Given the description of an element on the screen output the (x, y) to click on. 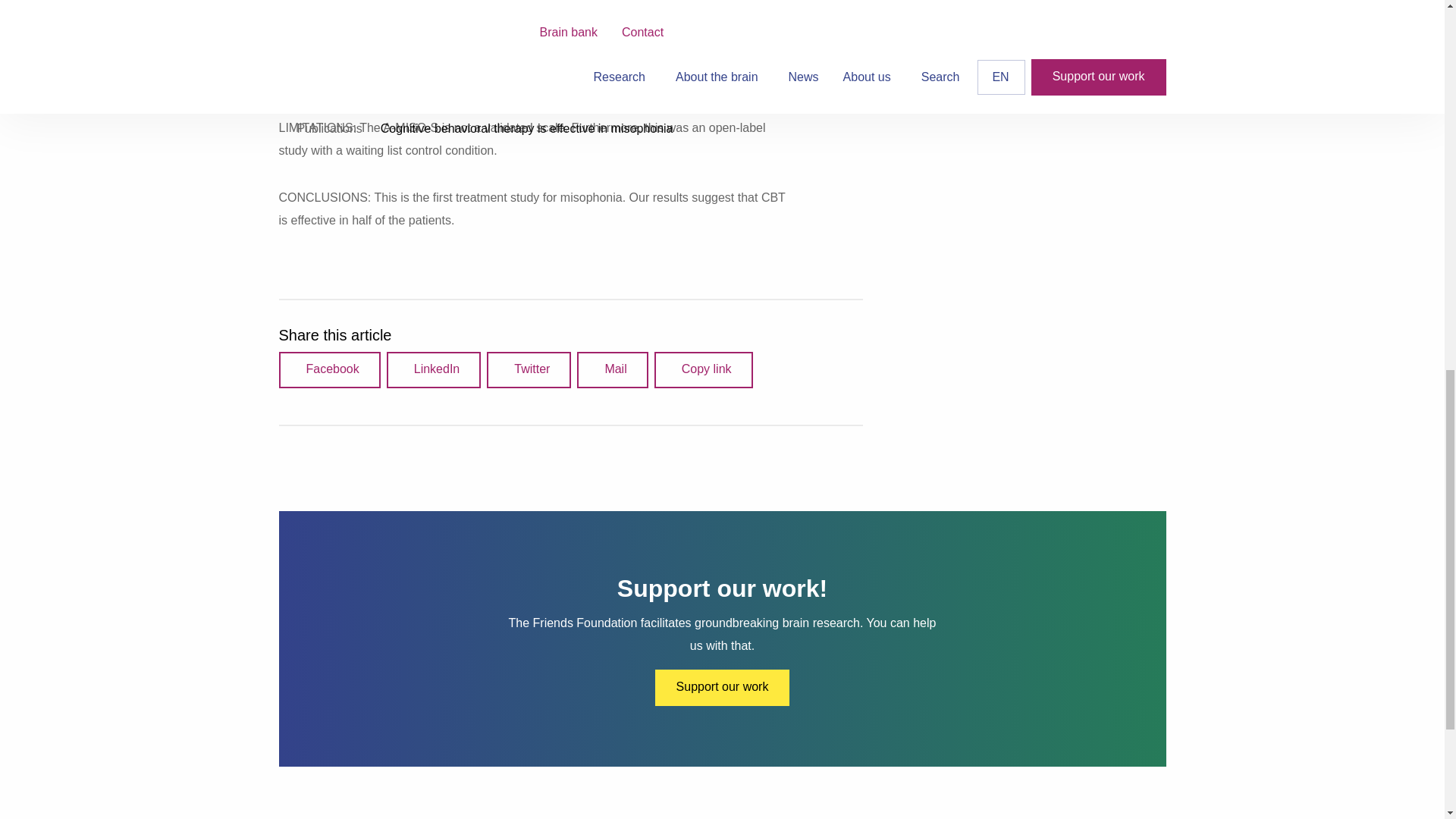
Share via mail (611, 370)
Share link (702, 370)
Share on LinkedIn (434, 370)
Tweet (528, 370)
Share on Facebook (329, 370)
